Given the description of an element on the screen output the (x, y) to click on. 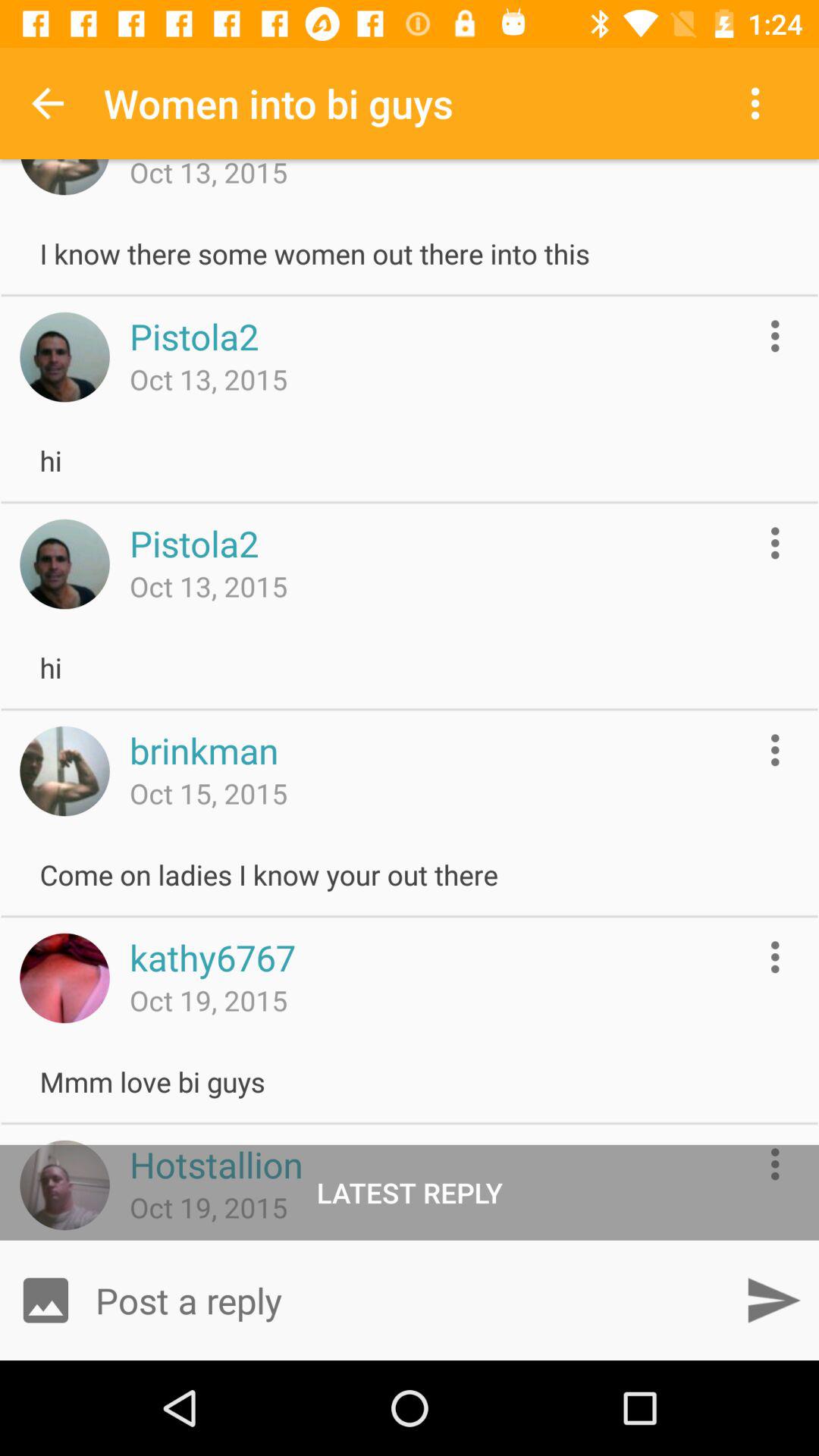
user profile (64, 1185)
